Given the description of an element on the screen output the (x, y) to click on. 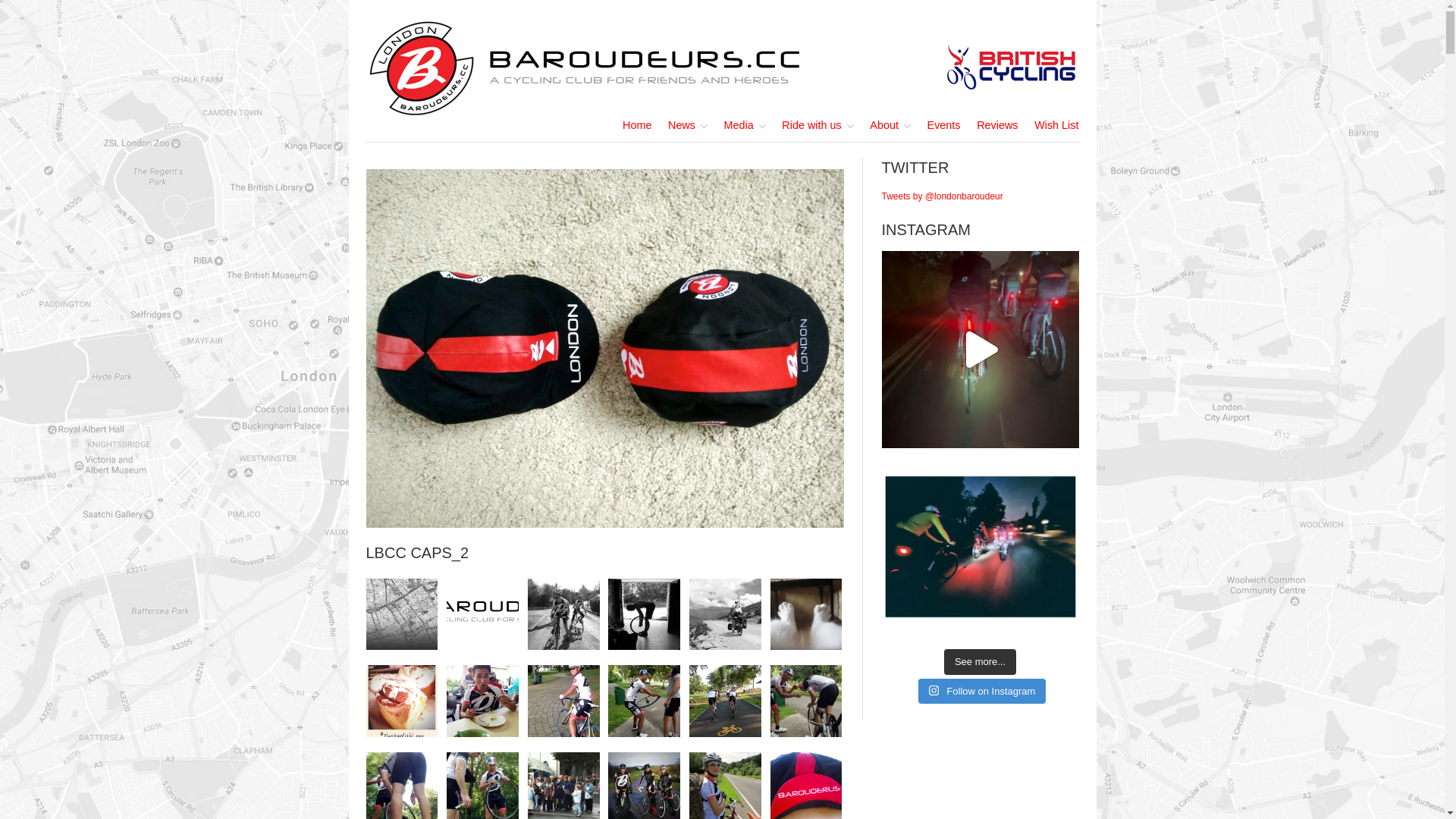
Events Element type: text (943, 125)
London Baroudeurs Element type: hover (721, 66)
See more... Element type: text (980, 661)
Tweets by @londonbaroudeur Element type: text (941, 196)
Follow on Instagram Element type: text (982, 690)
Wish List Element type: text (1056, 125)
Reviews Element type: text (996, 125)
Home Element type: text (636, 125)
